Given the description of an element on the screen output the (x, y) to click on. 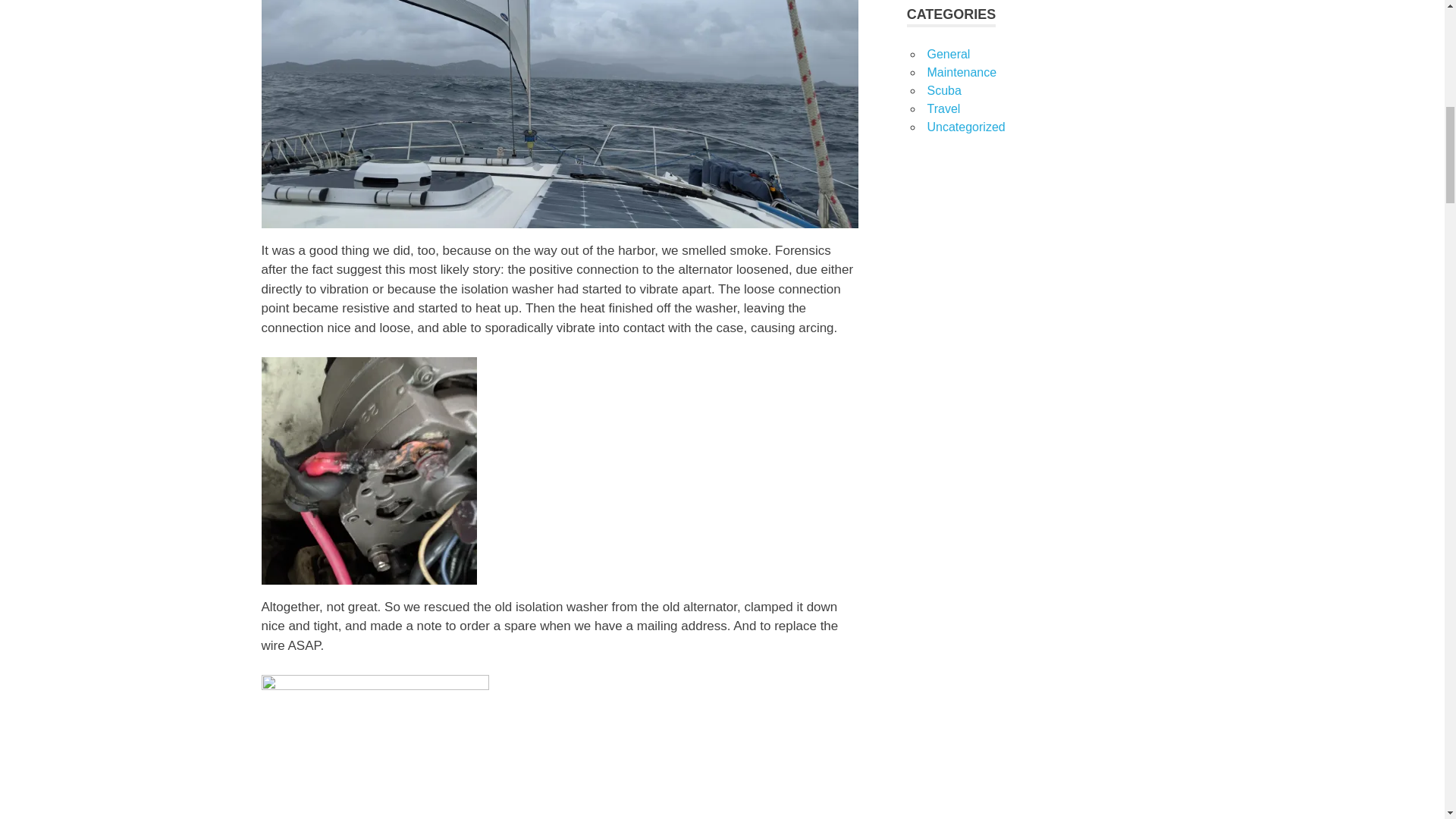
Maintenance (960, 72)
General (947, 53)
Travel (942, 108)
Scuba (943, 90)
Uncategorized (965, 126)
